Given the description of an element on the screen output the (x, y) to click on. 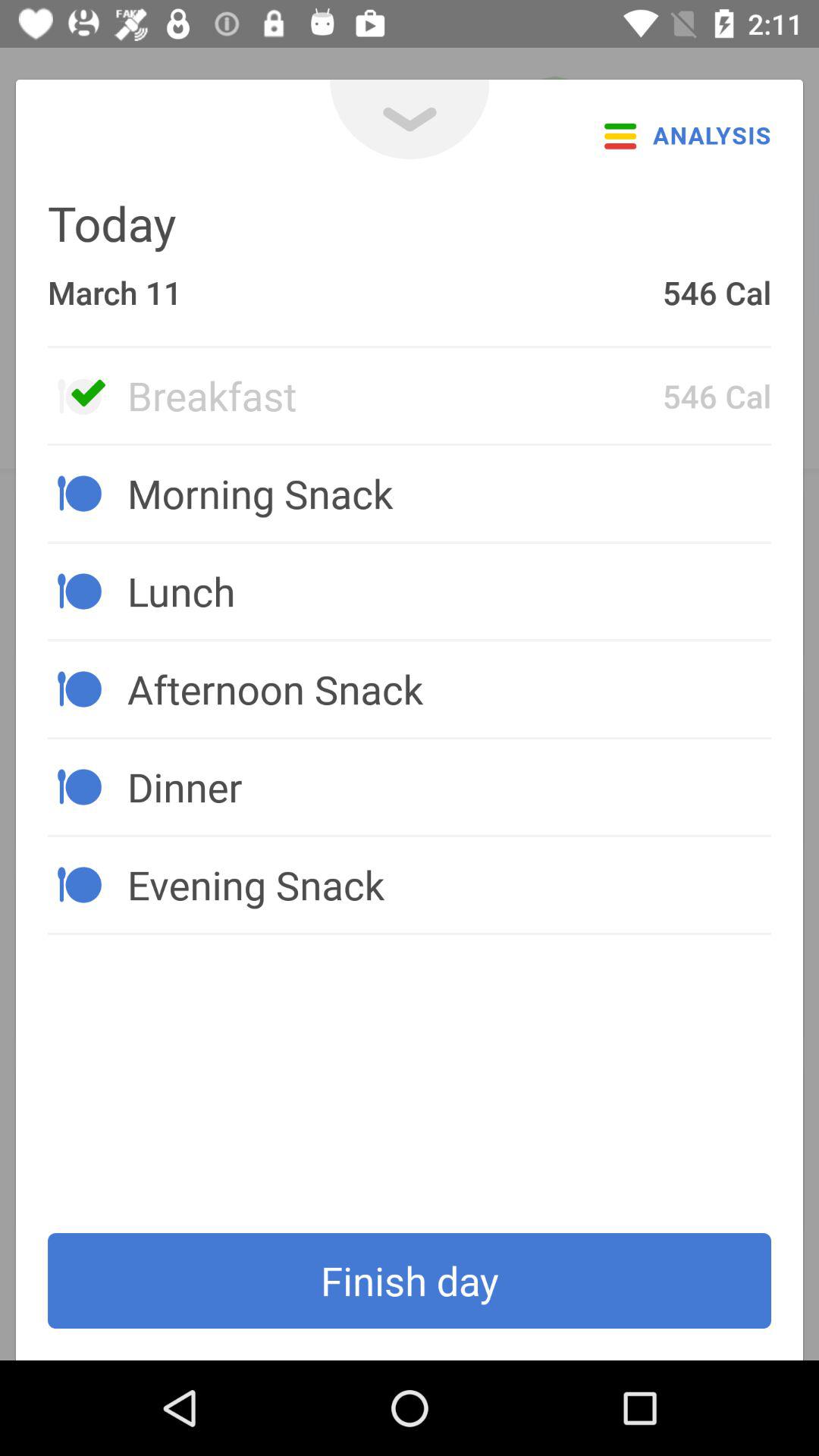
go down (409, 119)
